Given the description of an element on the screen output the (x, y) to click on. 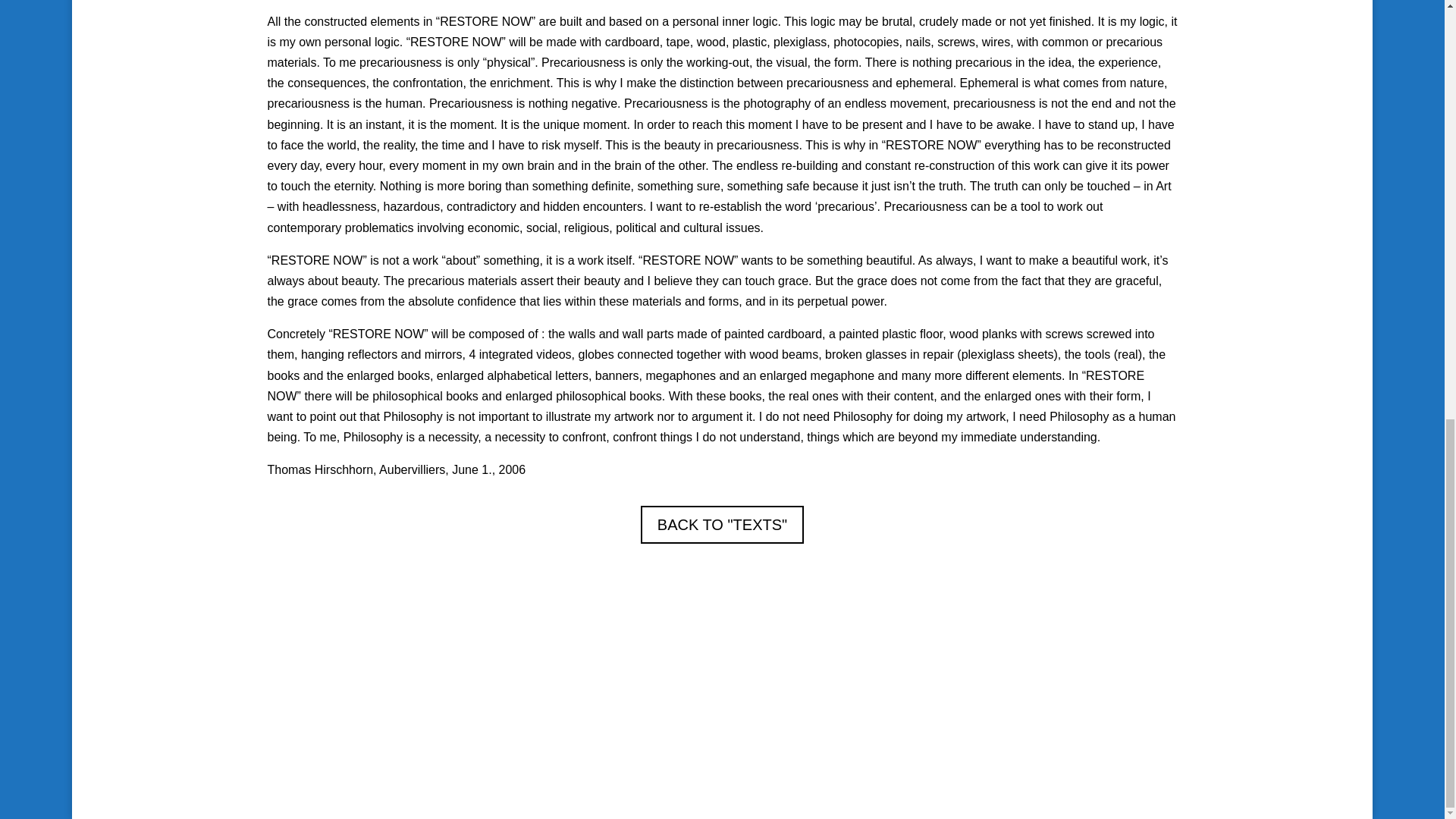
BACK TO "TEXTS" (721, 524)
